Given the description of an element on the screen output the (x, y) to click on. 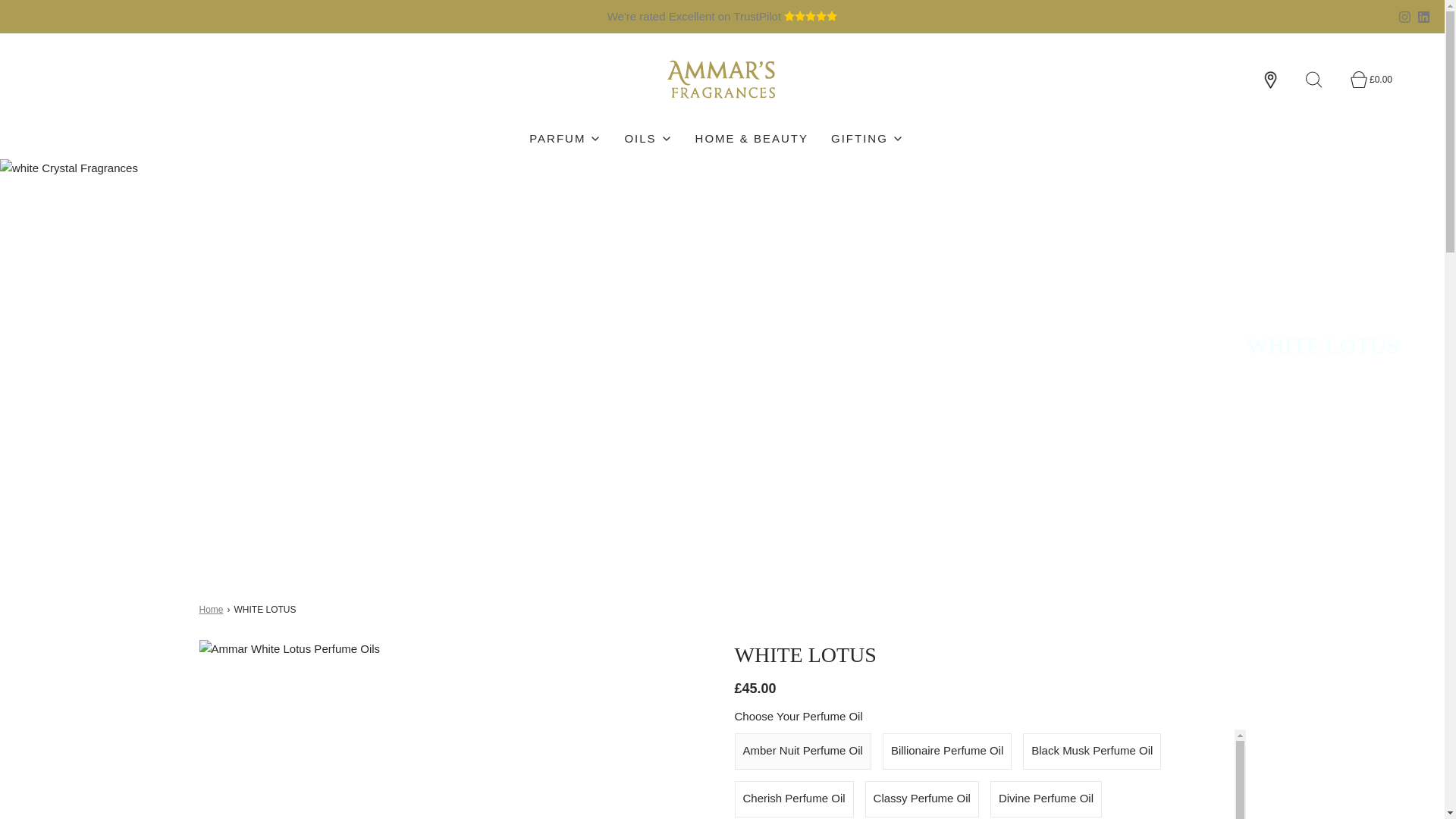
LinkedIn icon (1423, 16)
Instagram icon (1404, 16)
Back to the frontpage (212, 609)
Search (1322, 79)
LinkedIn icon (1423, 16)
Cart (1367, 79)
We're rated Excellent on TrustPilot (722, 15)
Instagram icon (1404, 16)
